Given the description of an element on the screen output the (x, y) to click on. 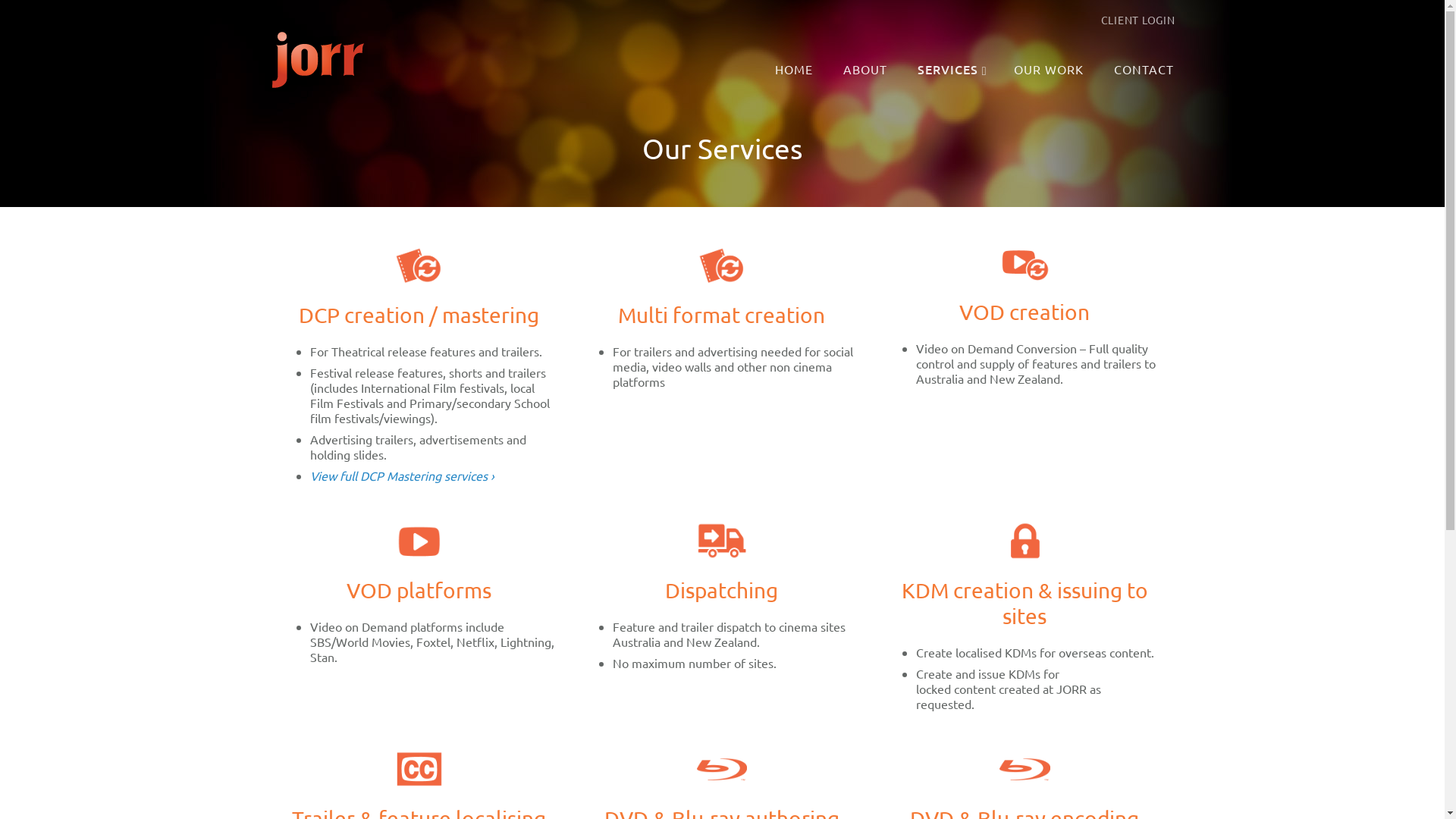
HOME Element type: text (795, 69)
SERVICES Element type: text (952, 69)
CLIENT LOGIN Element type: text (1138, 19)
ABOUT Element type: text (866, 69)
SKIP TO CONTENT Element type: text (820, 61)
CONTACT Element type: text (1145, 69)
OUR WORK Element type: text (1050, 69)
